Given the description of an element on the screen output the (x, y) to click on. 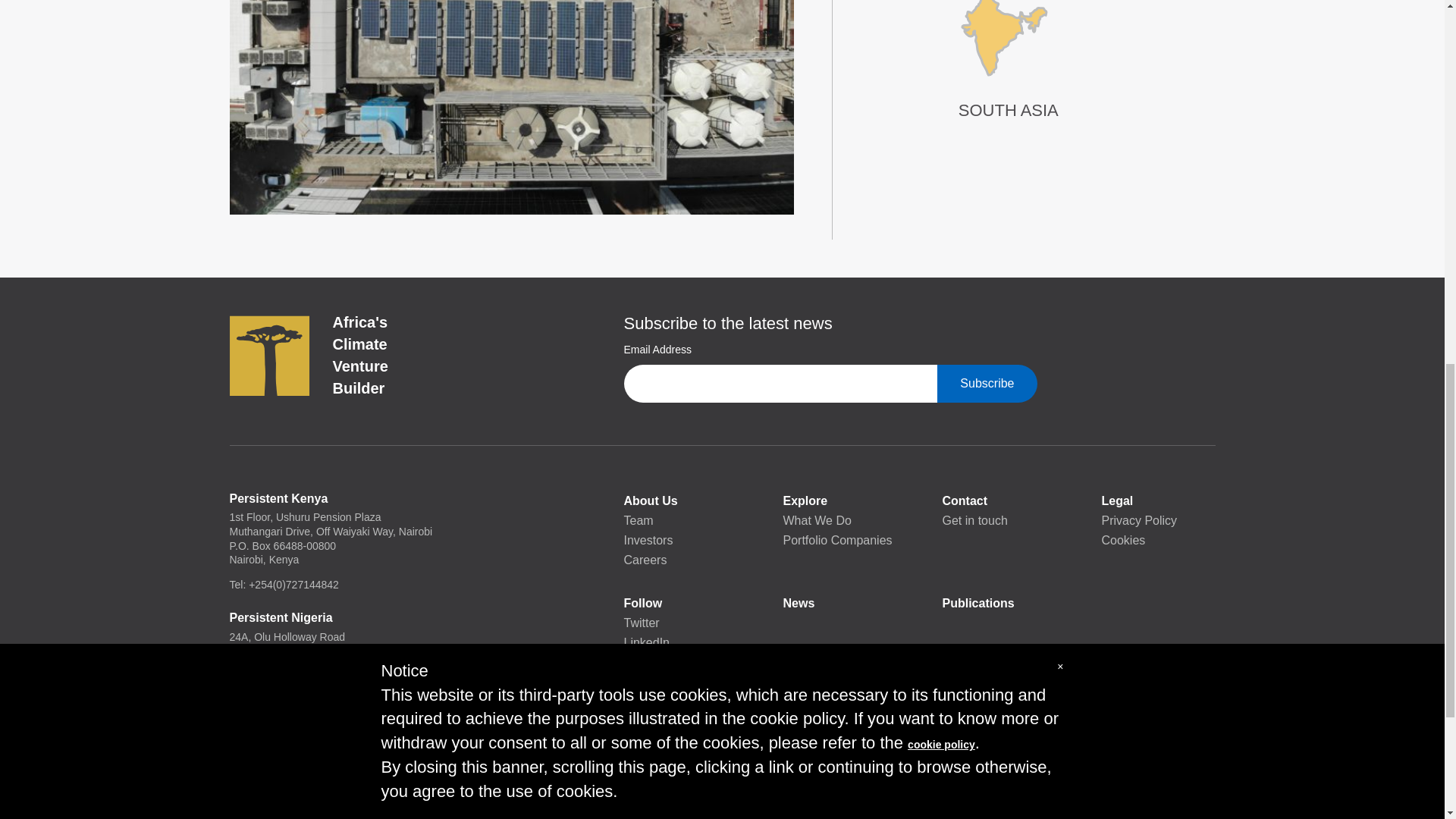
Investors (679, 540)
Privacy Policy (1157, 520)
created by dji camera (510, 107)
What We Do (839, 520)
Careers (679, 560)
Follow (679, 603)
Explore (839, 501)
Cookies (1157, 540)
Contact (998, 501)
Portfolio Companies (839, 540)
